Given the description of an element on the screen output the (x, y) to click on. 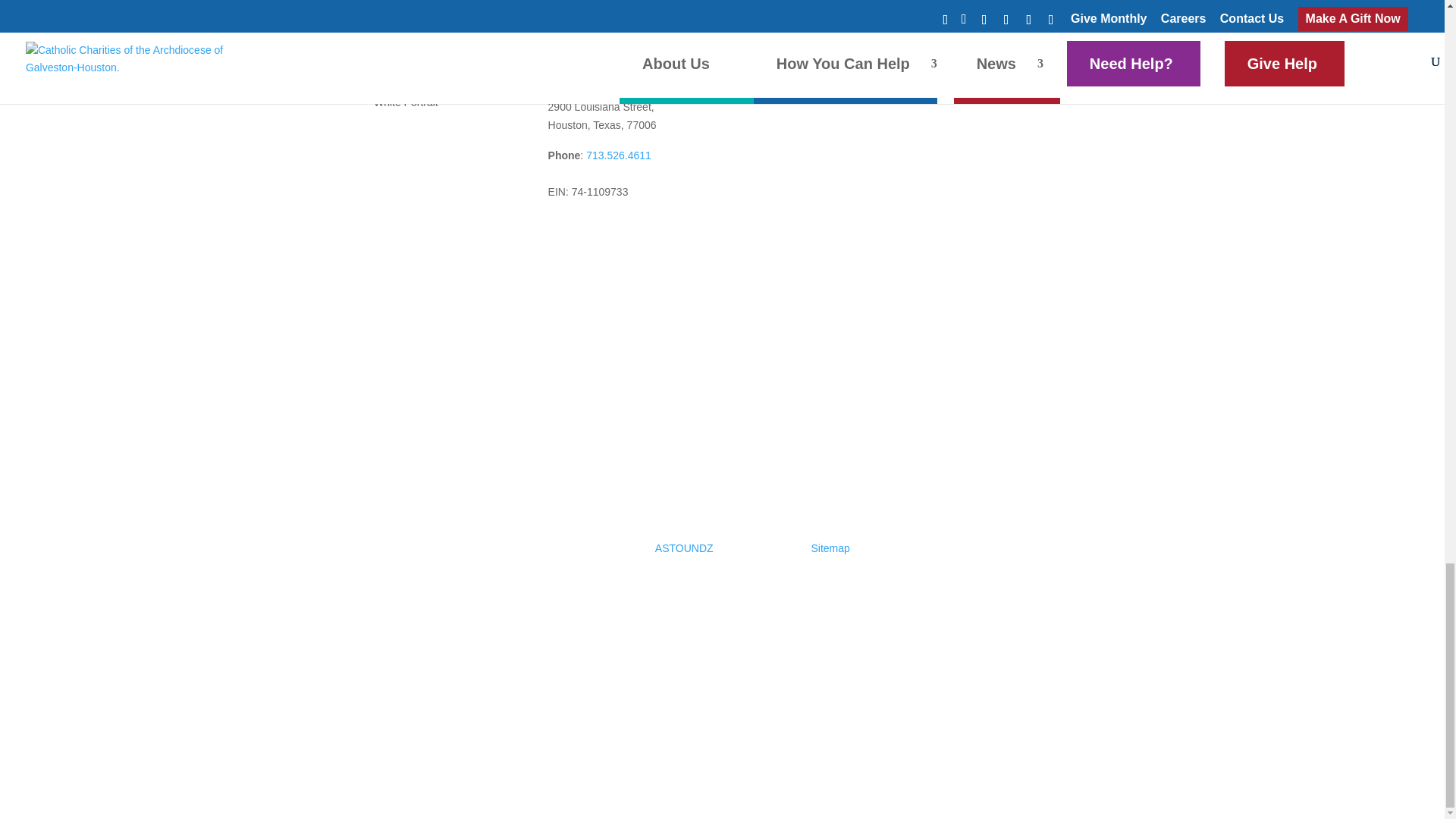
Follow on Youtube (657, 232)
Follow on X (566, 232)
Follow on TikTok (687, 232)
Follow on Instagram (596, 232)
Follow on LinkedIn (626, 232)
Follow on Facebook (536, 232)
Catholic white logo (363, 69)
